Given the description of an element on the screen output the (x, y) to click on. 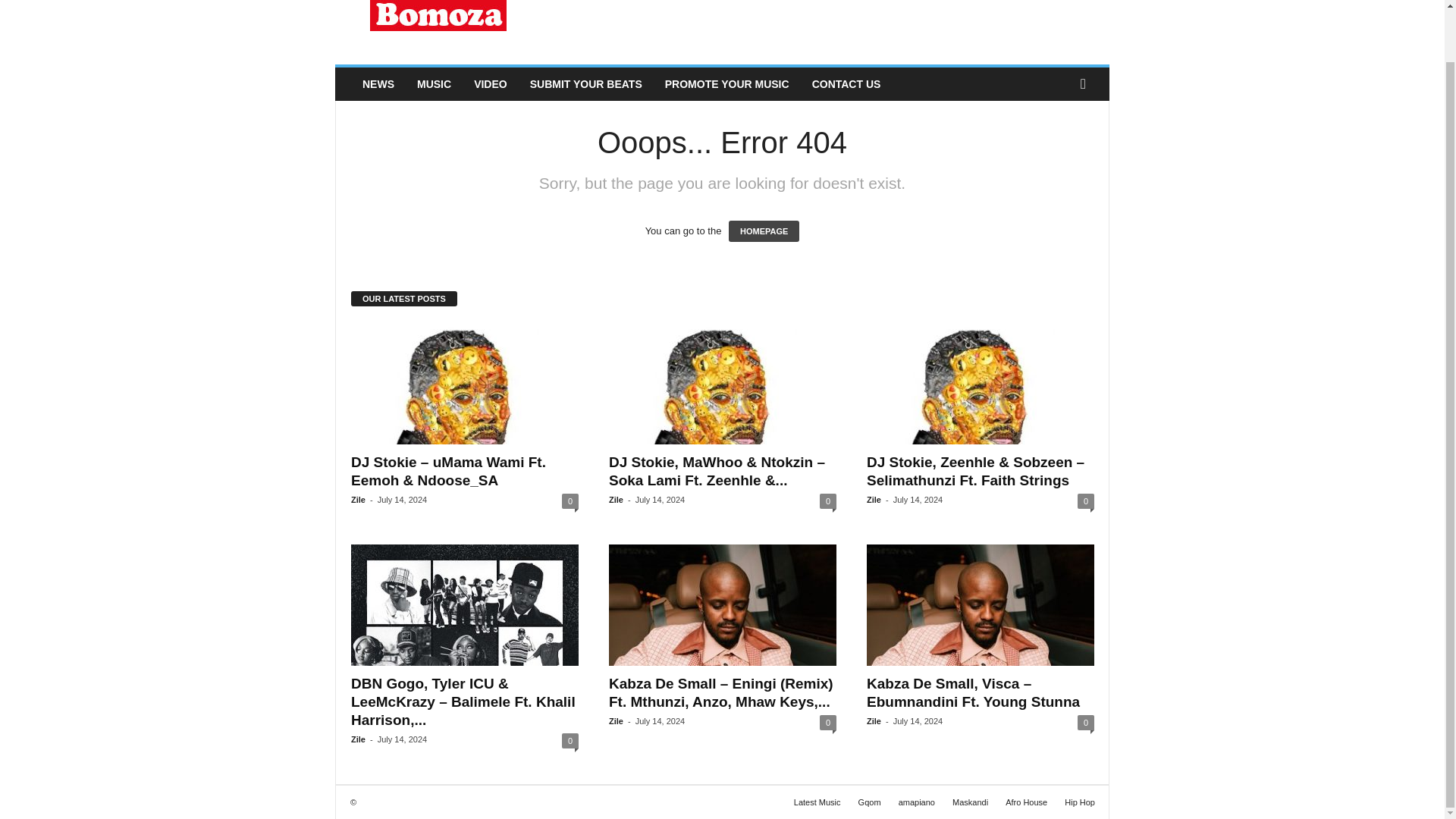
PROMOTE YOUR MUSIC (726, 83)
SUBMIT YOUR BEATS (585, 83)
0 (827, 500)
MUSIC (434, 83)
NEWS (378, 83)
Zile (615, 499)
HOMEPAGE (764, 230)
VIDEO (490, 83)
Zile (357, 499)
Zile (873, 499)
Zile (357, 738)
0 (570, 500)
Bomoza (437, 29)
CONTACT US (846, 83)
0 (1085, 500)
